Given the description of an element on the screen output the (x, y) to click on. 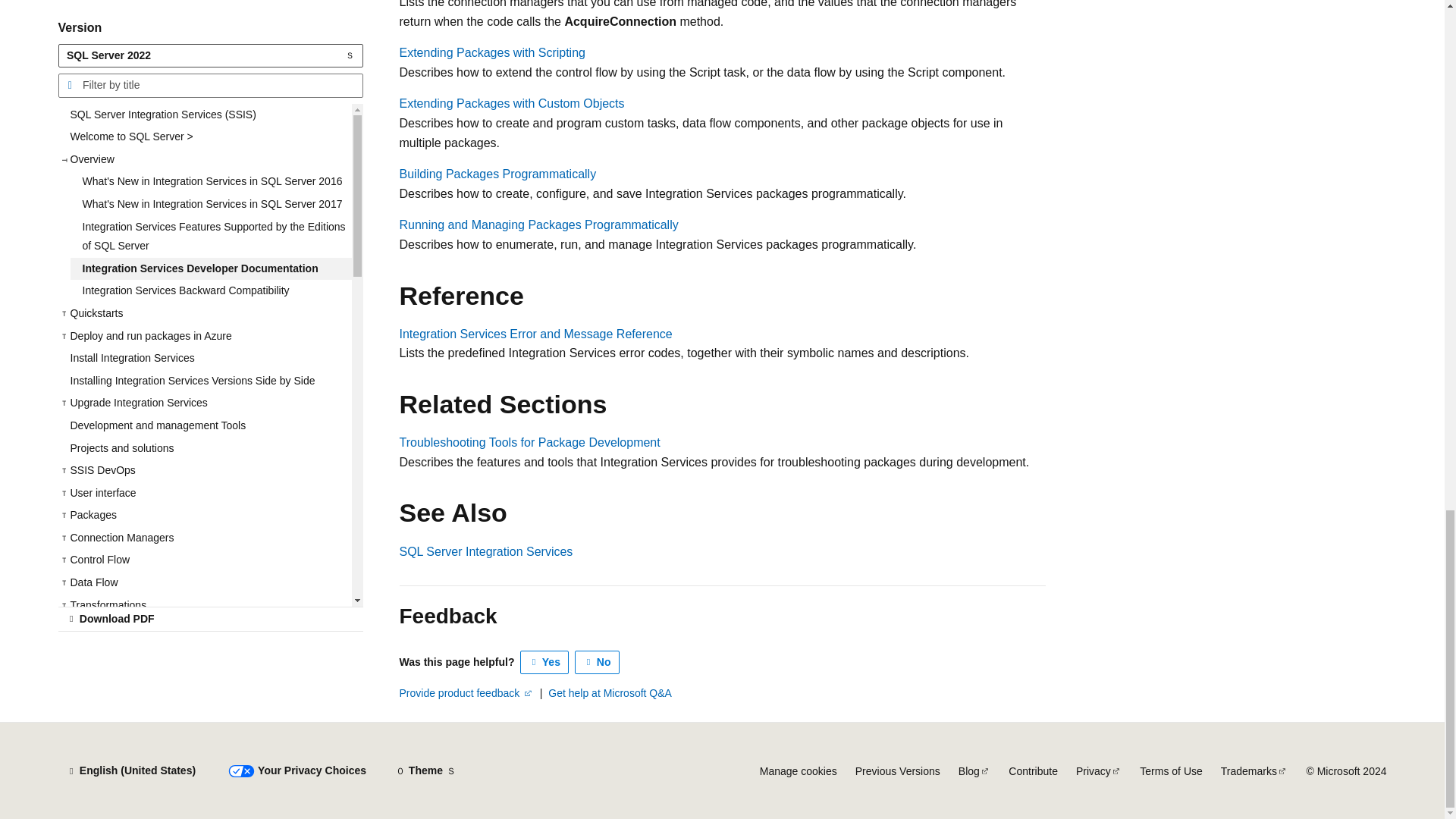
This article is helpful (544, 662)
Theme (425, 770)
This article is not helpful (597, 662)
